Given the description of an element on the screen output the (x, y) to click on. 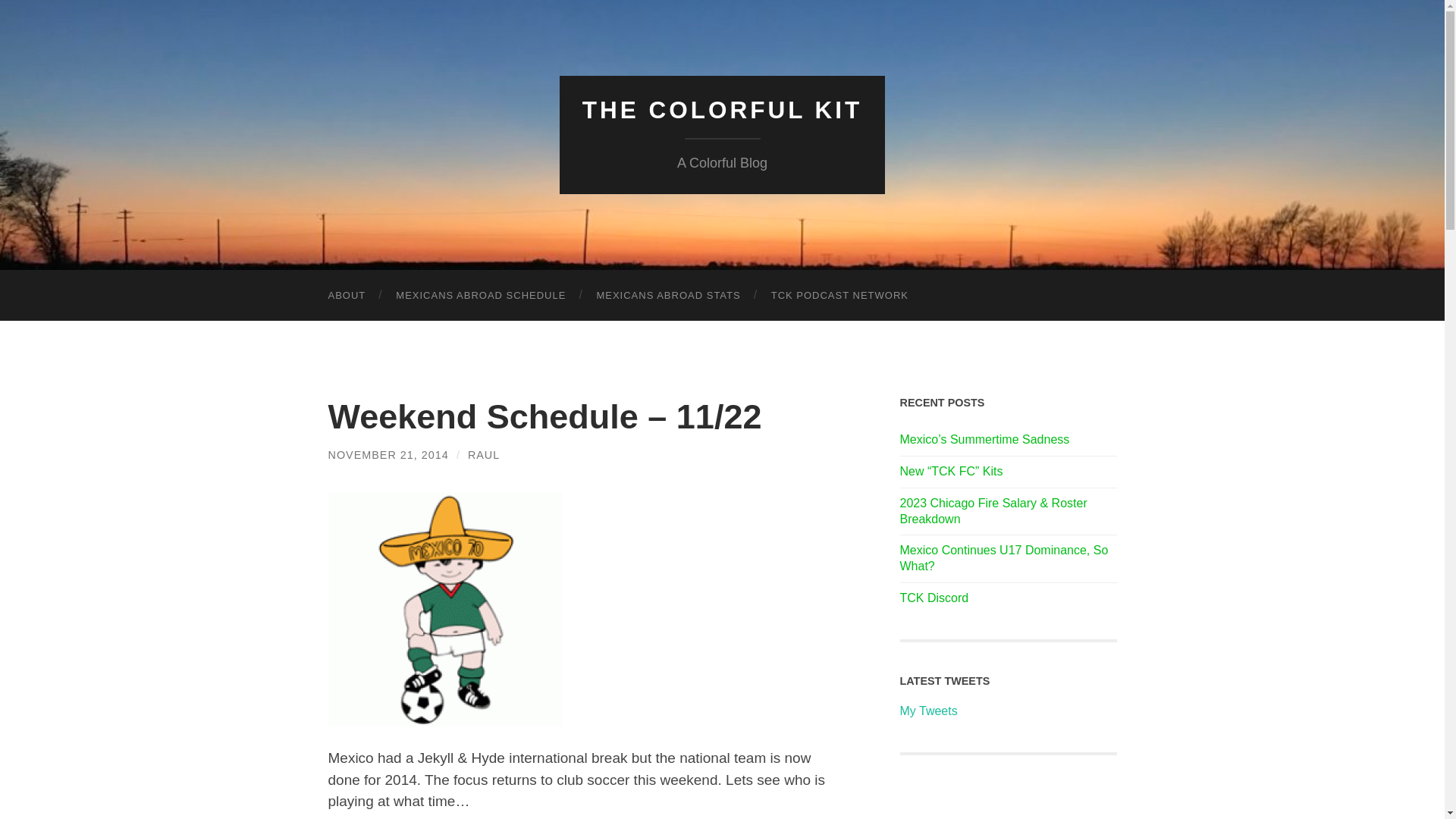
TCK Discord (1007, 598)
Mexico Continues U17 Dominance, So What? (1007, 558)
RAUL (483, 454)
TCK PODCAST NETWORK (839, 295)
Posts by Raul (483, 454)
THE COLORFUL KIT (722, 109)
NOVEMBER 21, 2014 (387, 454)
MEXICANS ABROAD STATS (667, 295)
My Tweets (927, 710)
Advertisement (1007, 803)
MEXICANS ABROAD SCHEDULE (480, 295)
ABOUT (346, 295)
